Given the description of an element on the screen output the (x, y) to click on. 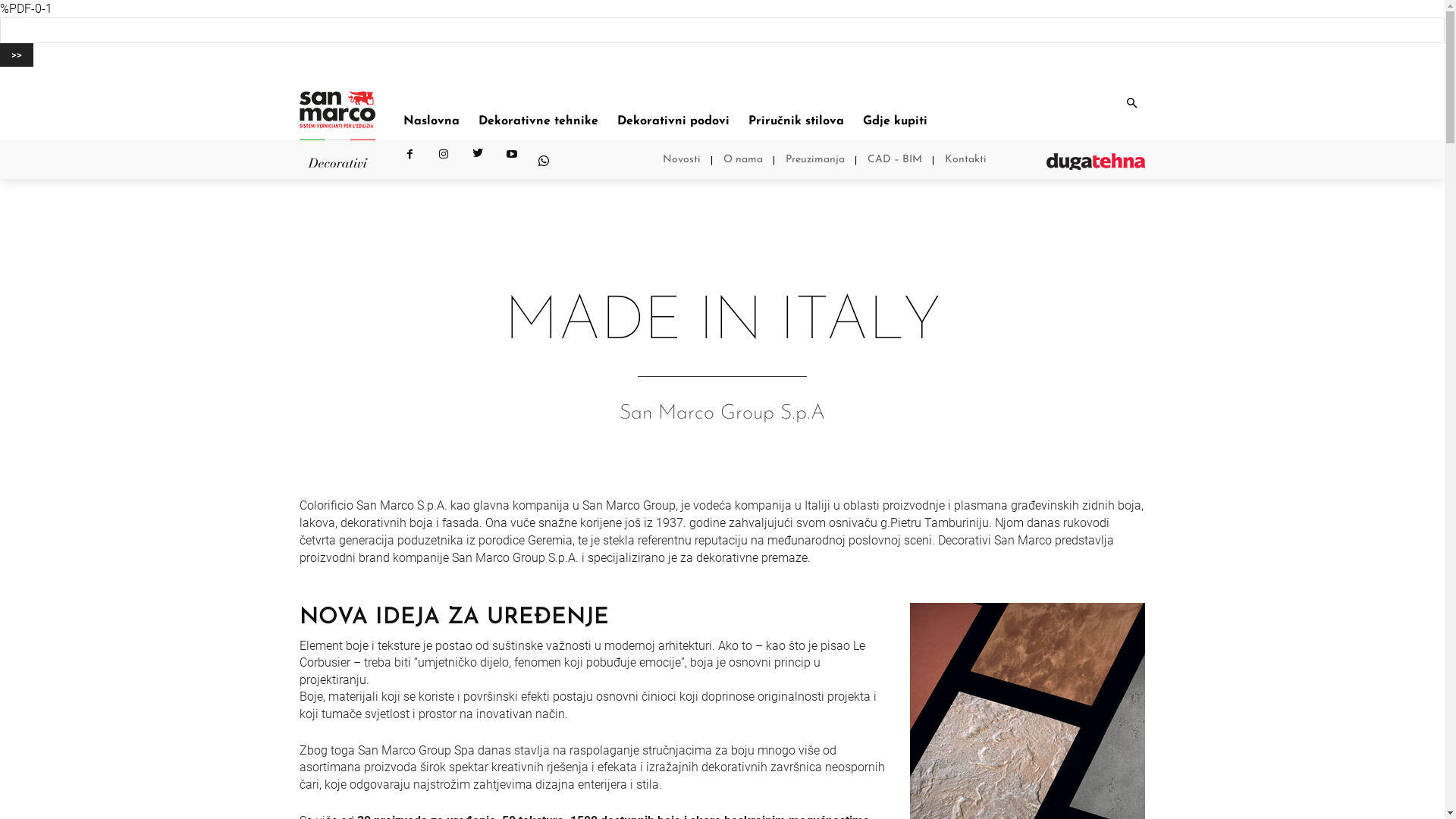
Duga Tehna Element type: hover (1095, 161)
Gdje kupiti Element type: text (894, 121)
Naslovna Element type: text (431, 121)
Kontakti Element type: text (965, 159)
Novosti Element type: text (681, 159)
O nama Element type: text (742, 159)
Duga Tehna Element type: hover (336, 162)
>> Element type: text (16, 54)
Preuzimanja Element type: text (814, 159)
Dekorativni podovi Element type: text (673, 121)
Youtube Element type: hover (511, 161)
Instagram Element type: hover (443, 161)
Facebook Element type: hover (409, 161)
Twitter Element type: hover (477, 161)
Duga Tehna Element type: hover (336, 115)
Dekorativne tehnike Element type: text (538, 121)
